Given the description of an element on the screen output the (x, y) to click on. 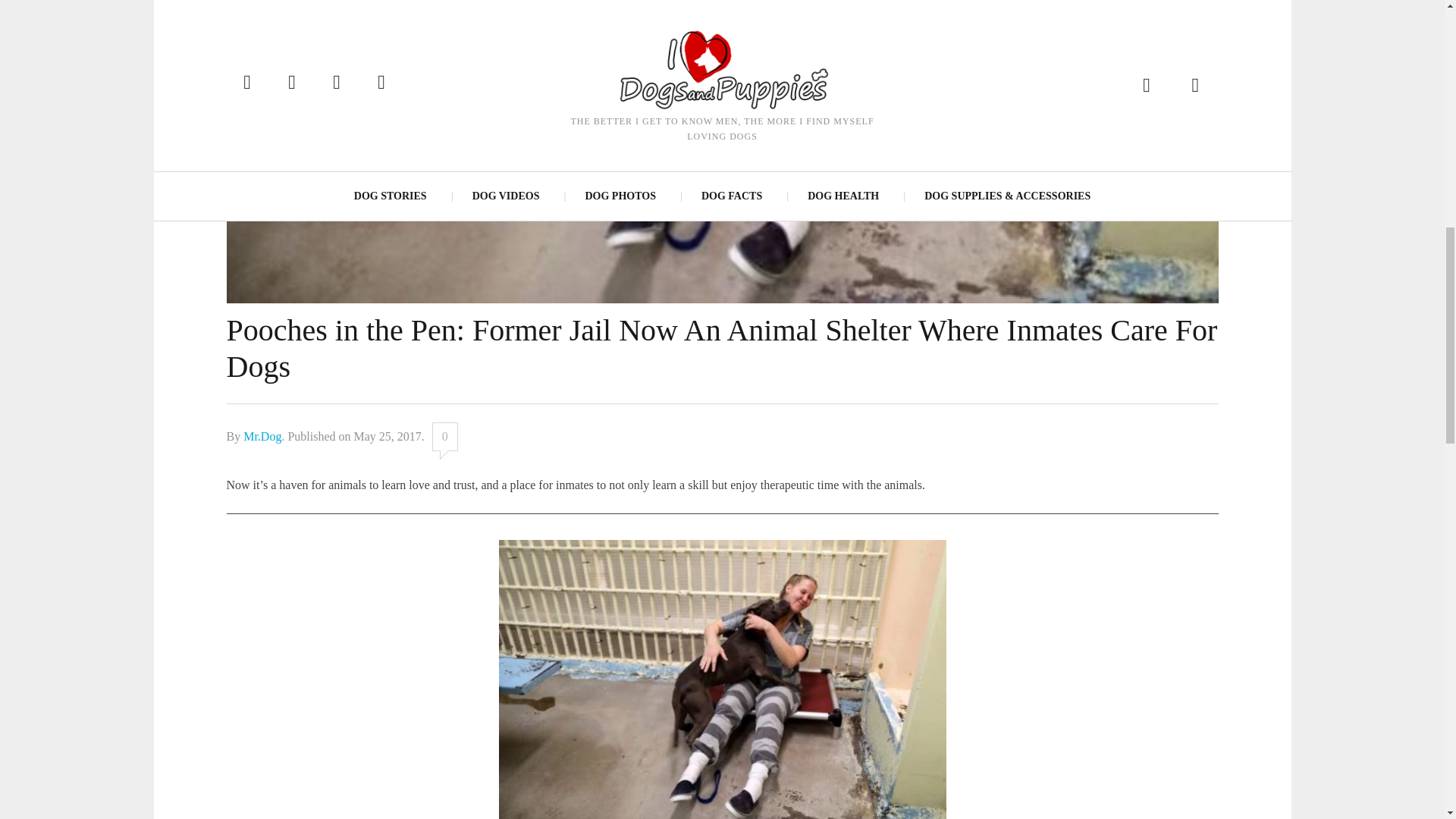
0 (445, 435)
Posts by Mr.Dog (262, 435)
Mr.Dog (262, 435)
